Given the description of an element on the screen output the (x, y) to click on. 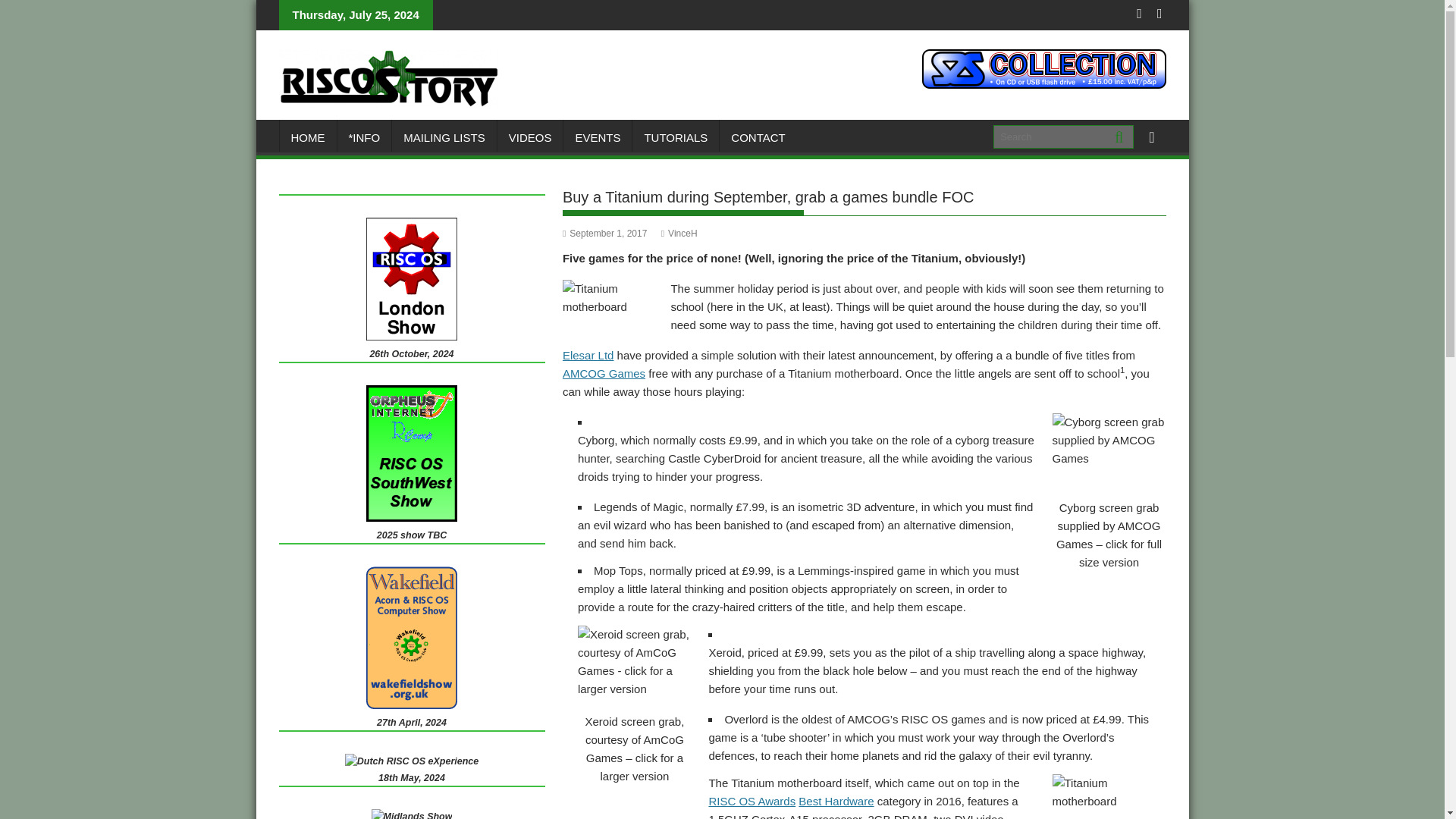
Elesar Ltd (588, 354)
TUTORIALS (675, 137)
RISC OS Awards (750, 800)
AMCOG Games (603, 373)
HOME (307, 137)
Best Hardware (835, 800)
MAILING LISTS (443, 137)
CONTACT (757, 137)
VIDEOS (530, 137)
September 1, 2017 (604, 233)
EVENTS (597, 137)
VinceH (679, 233)
